Given the description of an element on the screen output the (x, y) to click on. 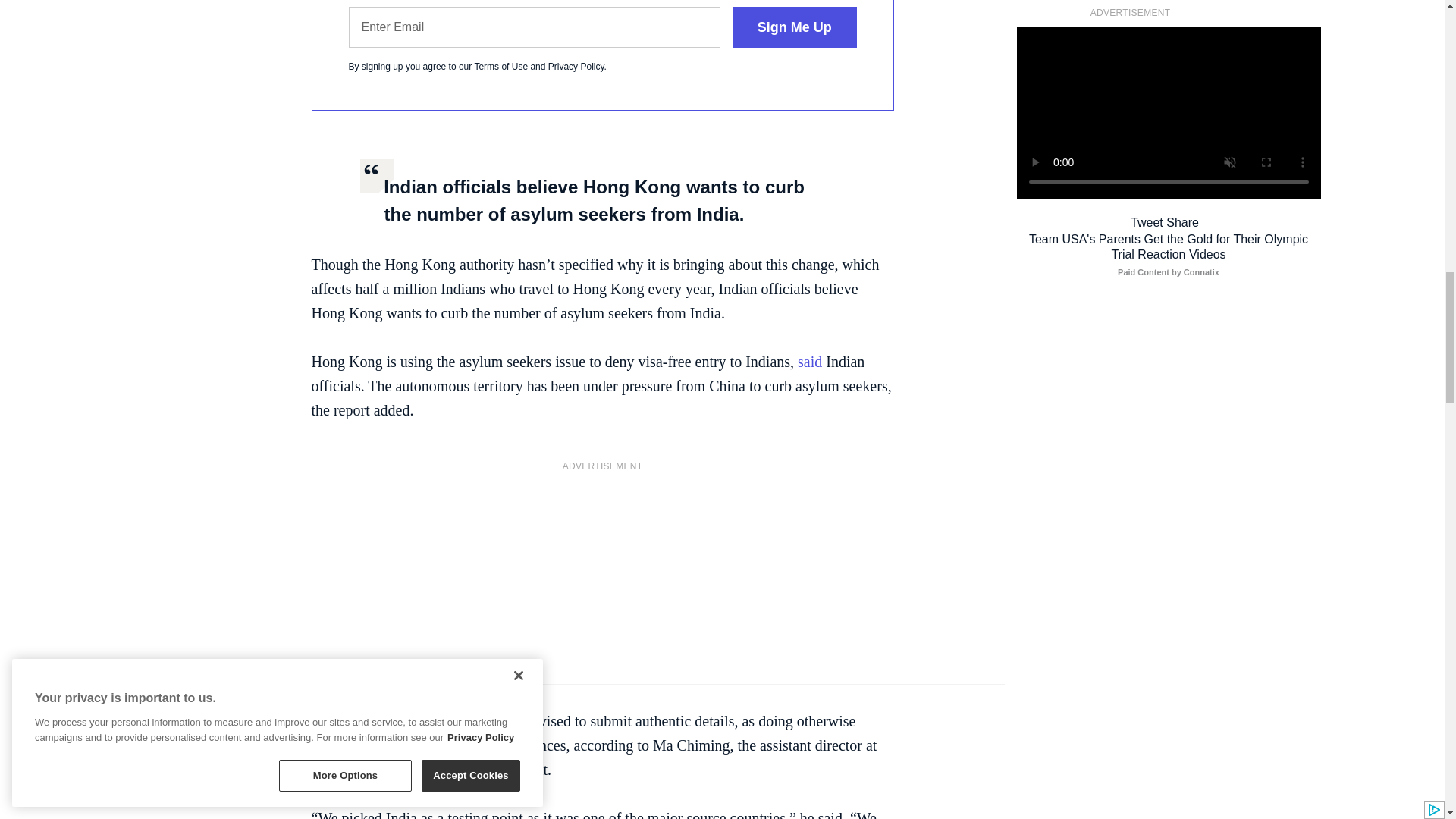
3rd party ad content (601, 576)
